Given the description of an element on the screen output the (x, y) to click on. 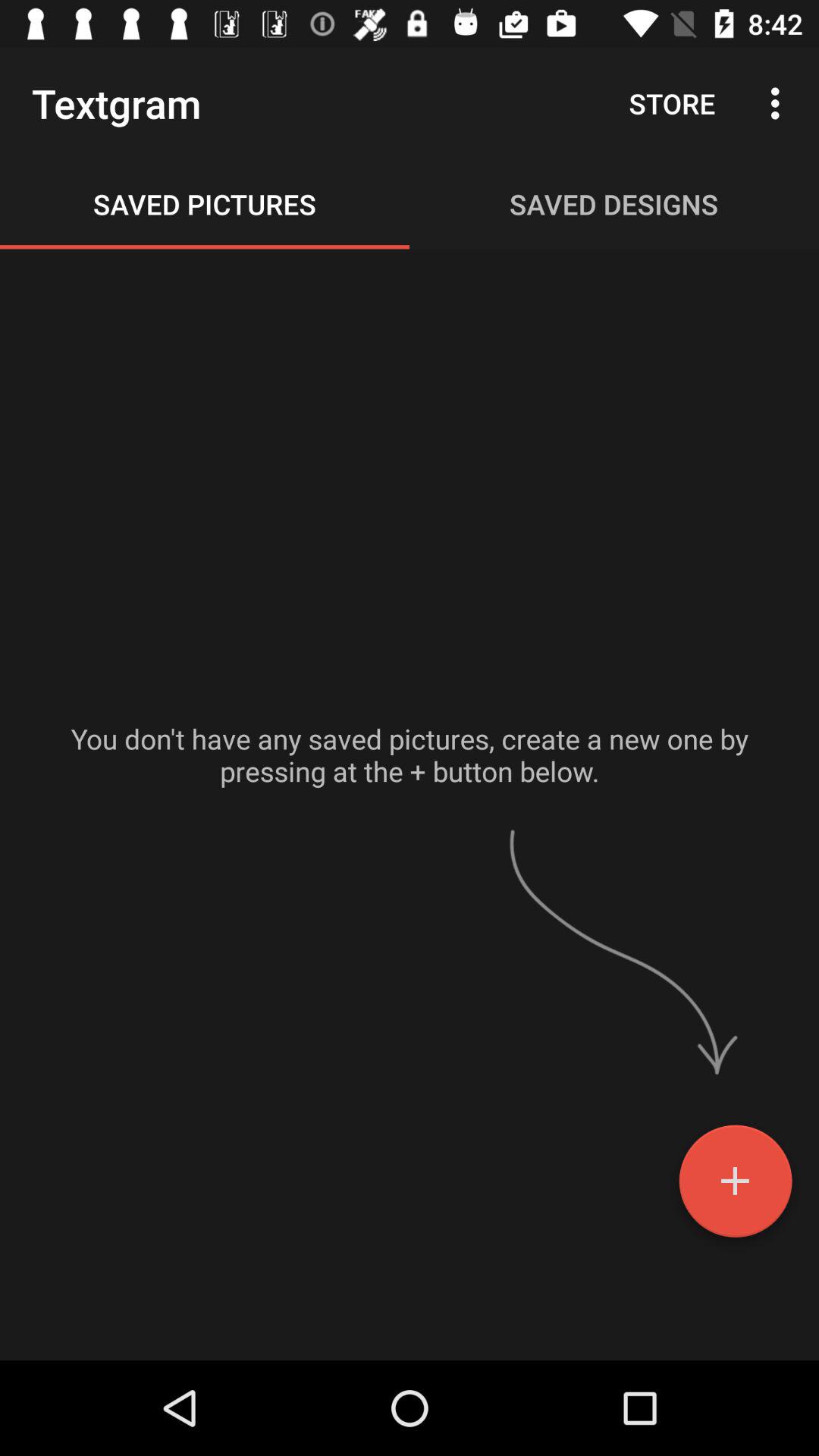
select the icon next to the textgram icon (672, 103)
